Given the description of an element on the screen output the (x, y) to click on. 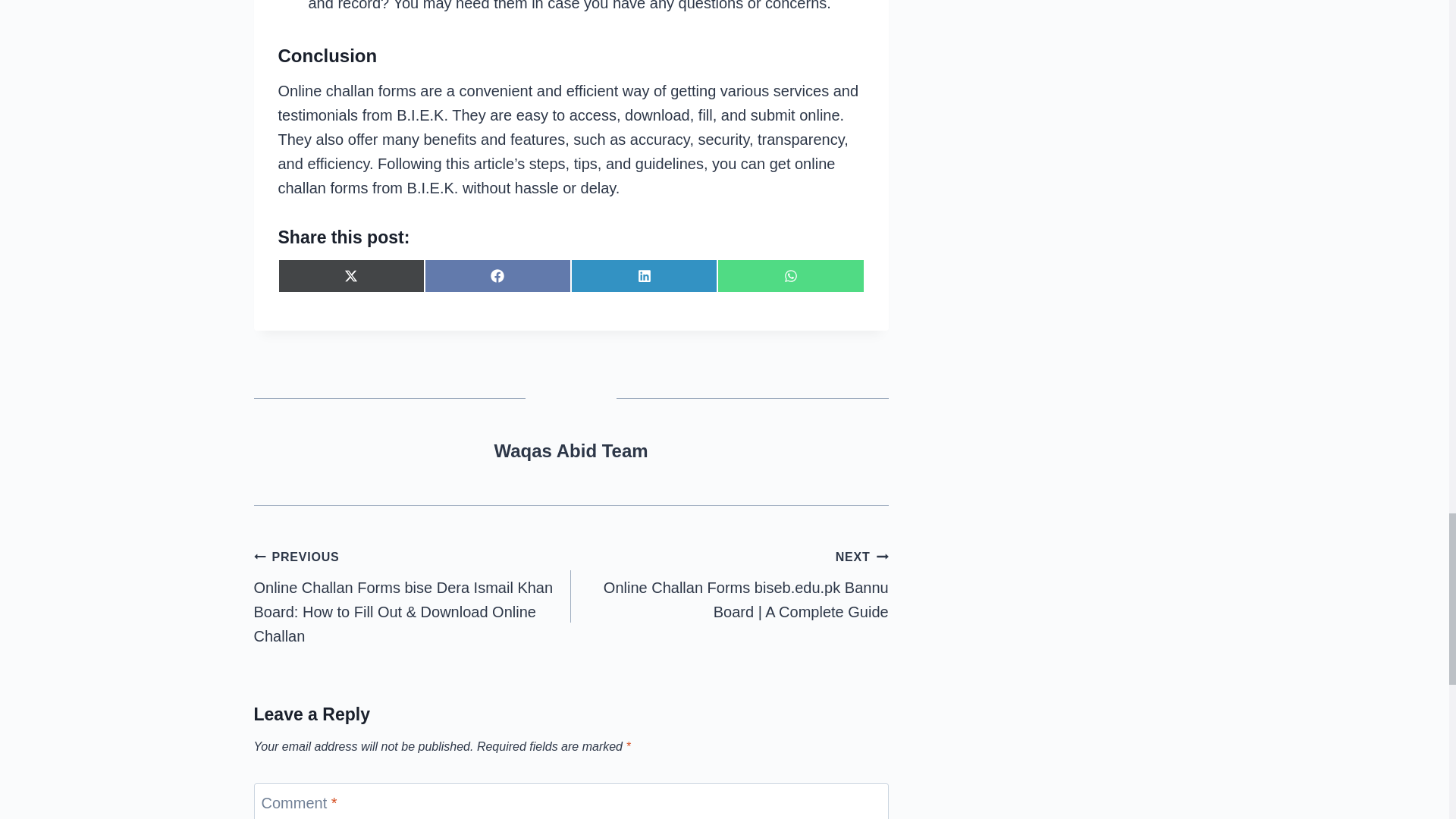
Posts by Waqas Abid Team (570, 450)
Share on Facebook (497, 275)
Waqas Abid Team (570, 450)
Share on WhatsApp (790, 275)
Share on LinkedIn (643, 275)
